Given the description of an element on the screen output the (x, y) to click on. 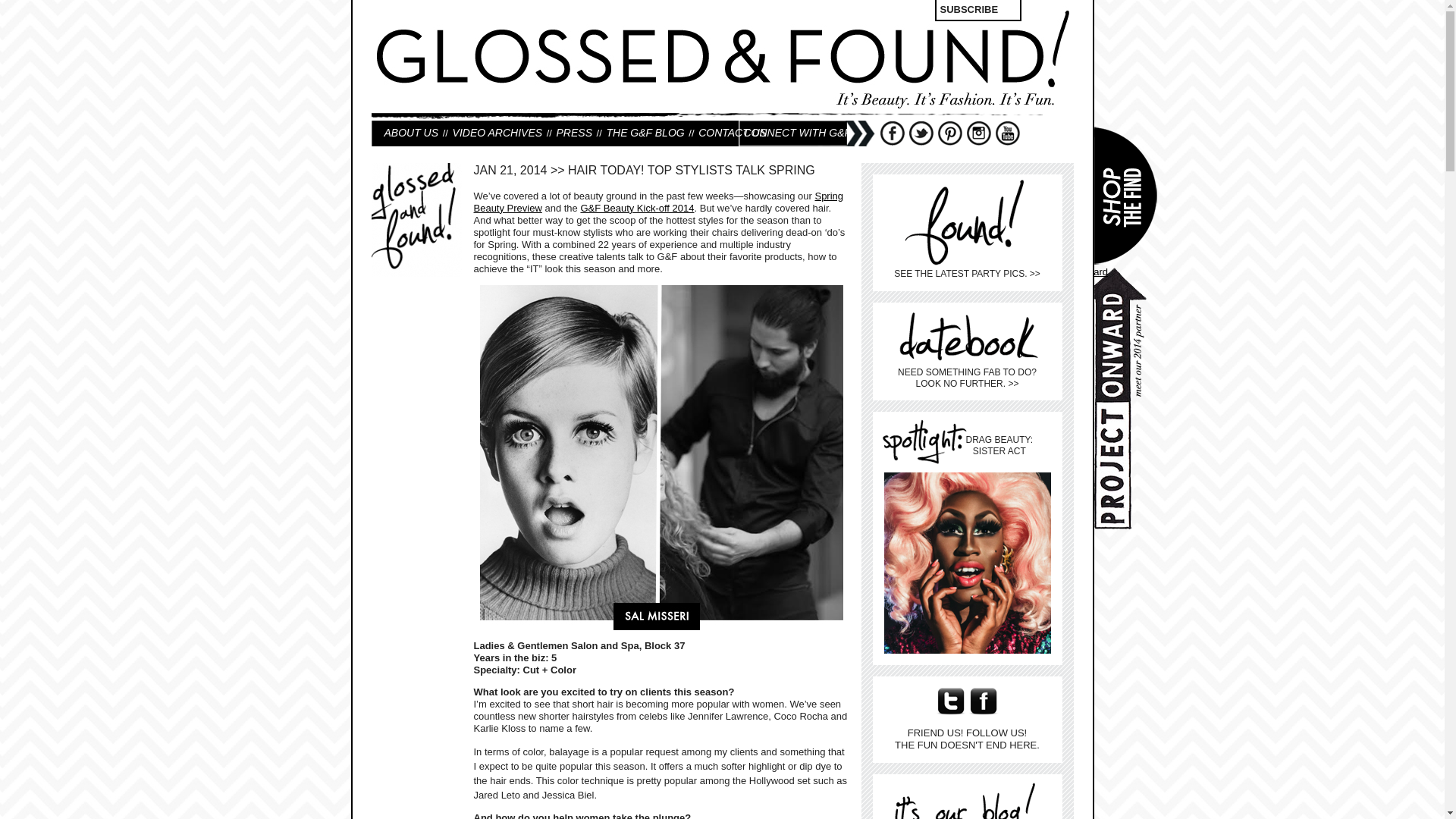
ABOUT US (410, 132)
Spring Beauty Preview 2014 (658, 201)
Beauty 2014 Kick-Off (636, 207)
PRESS (574, 132)
Spring Beauty Preview (658, 201)
CONTACT US (732, 132)
VIDEO ARCHIVES (497, 132)
